Given the description of an element on the screen output the (x, y) to click on. 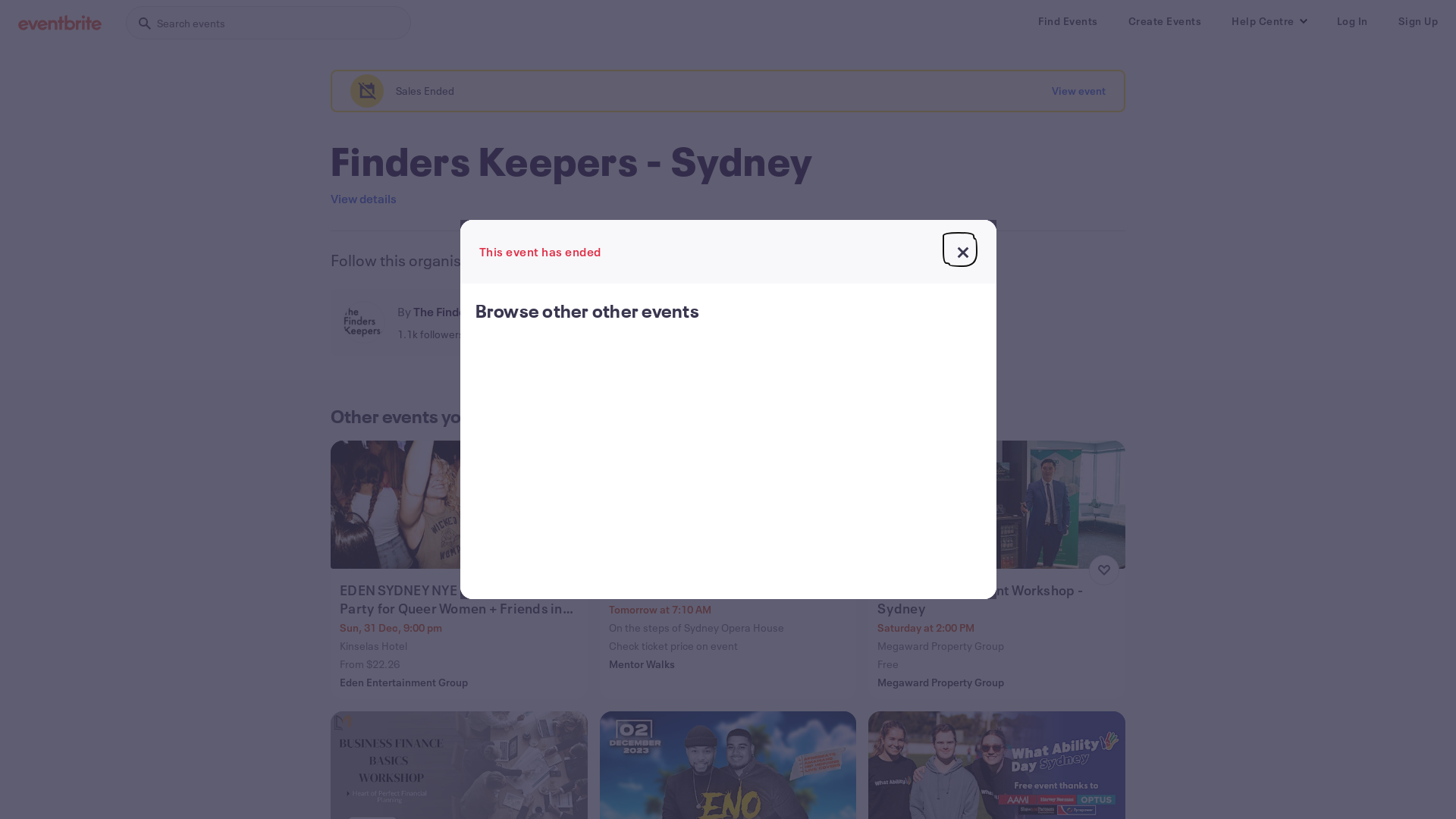
Create Events Element type: text (1165, 21)
Sign Up Element type: text (1418, 21)
View event Element type: text (1078, 90)
Log In Element type: text (1351, 21)
Mentor Walks Sydney Element type: text (729, 589)
Property Investment Workshop - Sydney Element type: text (998, 598)
Eventbrite Element type: hover (59, 22)
Find Events Element type: text (1068, 21)
Search events Element type: text (268, 22)
View details Element type: text (363, 198)
Follow Element type: text (575, 321)
